Given the description of an element on the screen output the (x, y) to click on. 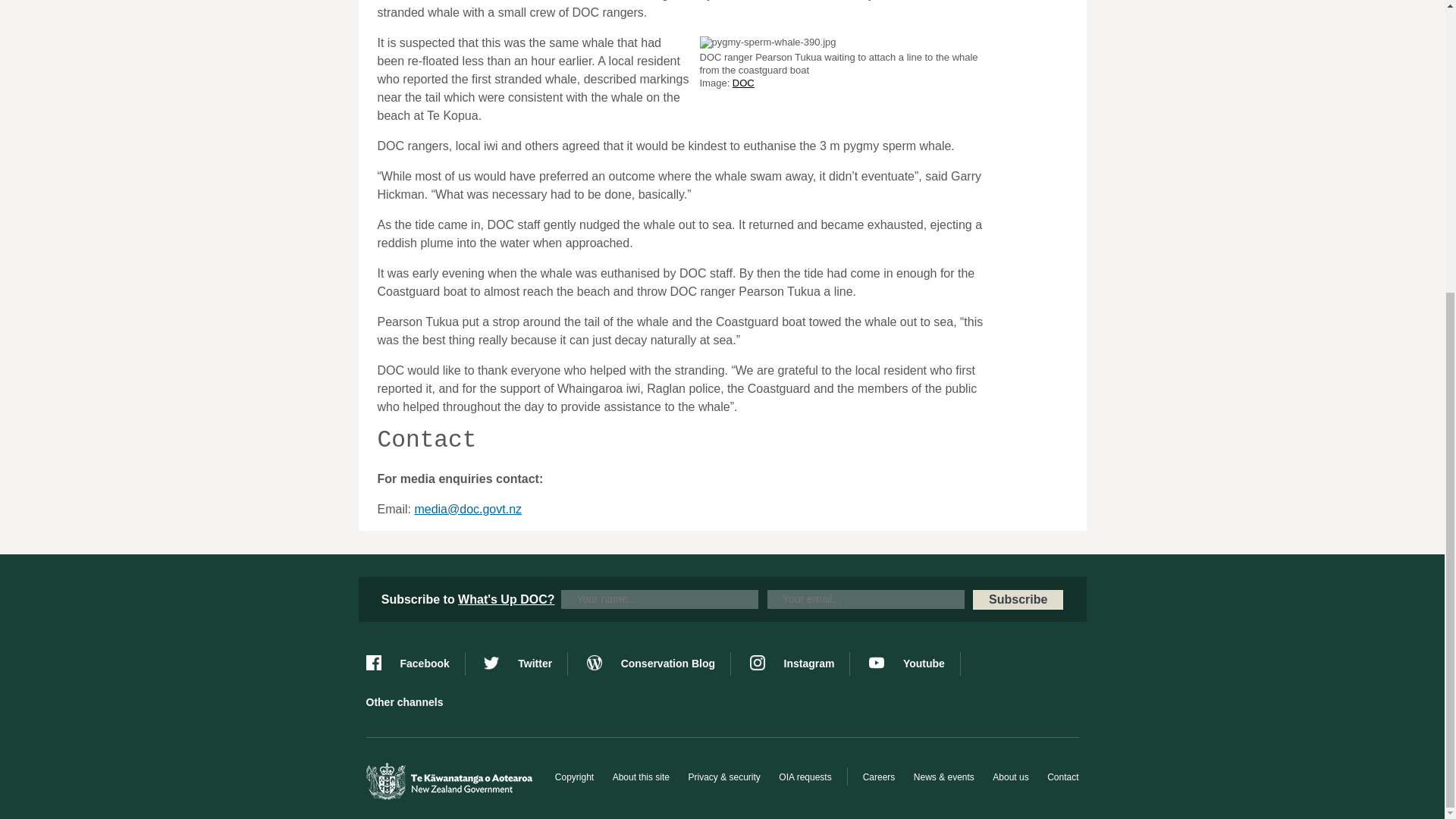
youtube (914, 663)
facebook (414, 663)
Subscribe (1017, 599)
blog (658, 663)
twitter (525, 663)
instagram (799, 663)
